Given the description of an element on the screen output the (x, y) to click on. 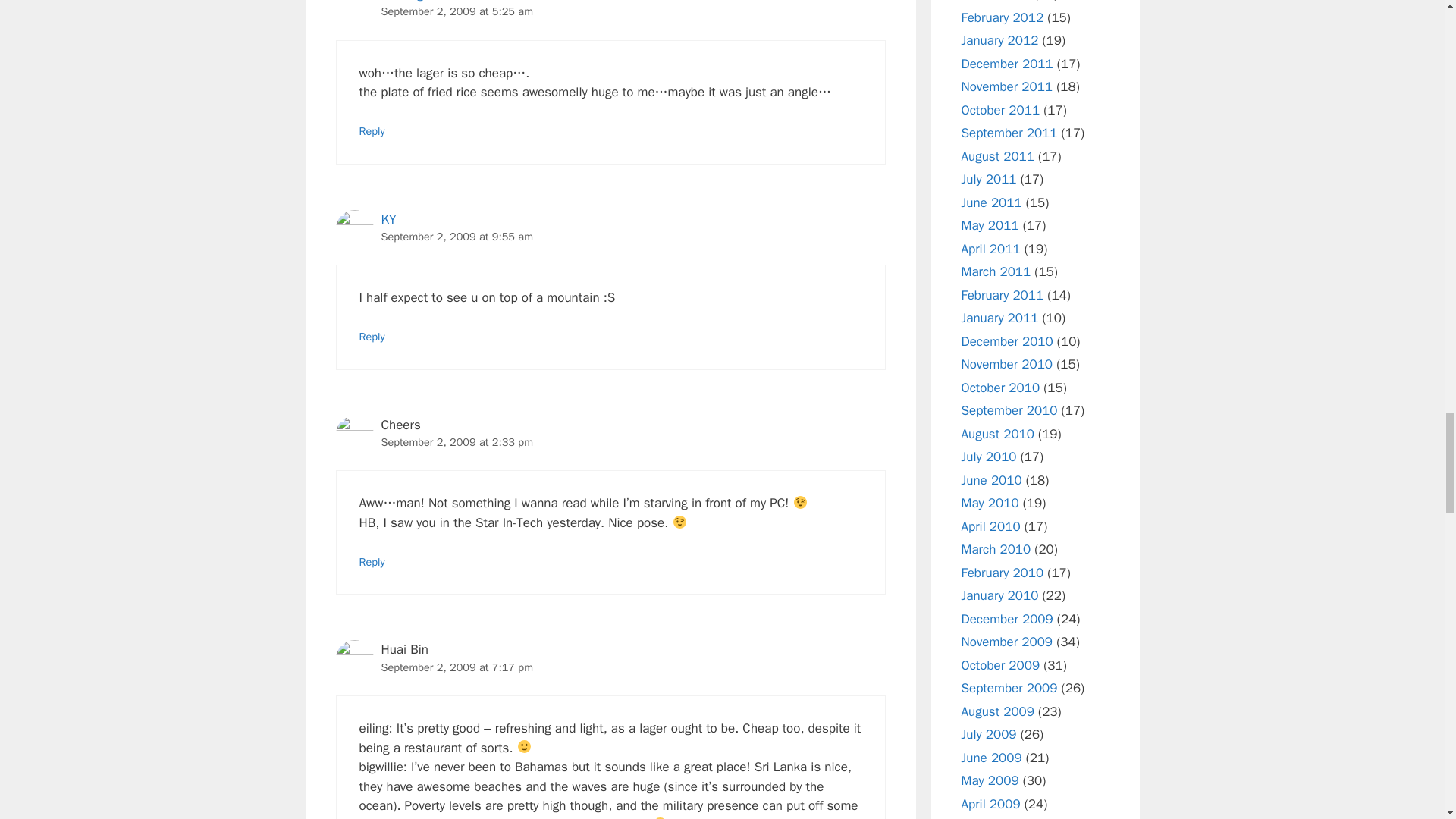
September 2, 2009 at 5:25 am (456, 11)
KY (388, 219)
Reply (372, 131)
Cheong Hao (414, 1)
